Given the description of an element on the screen output the (x, y) to click on. 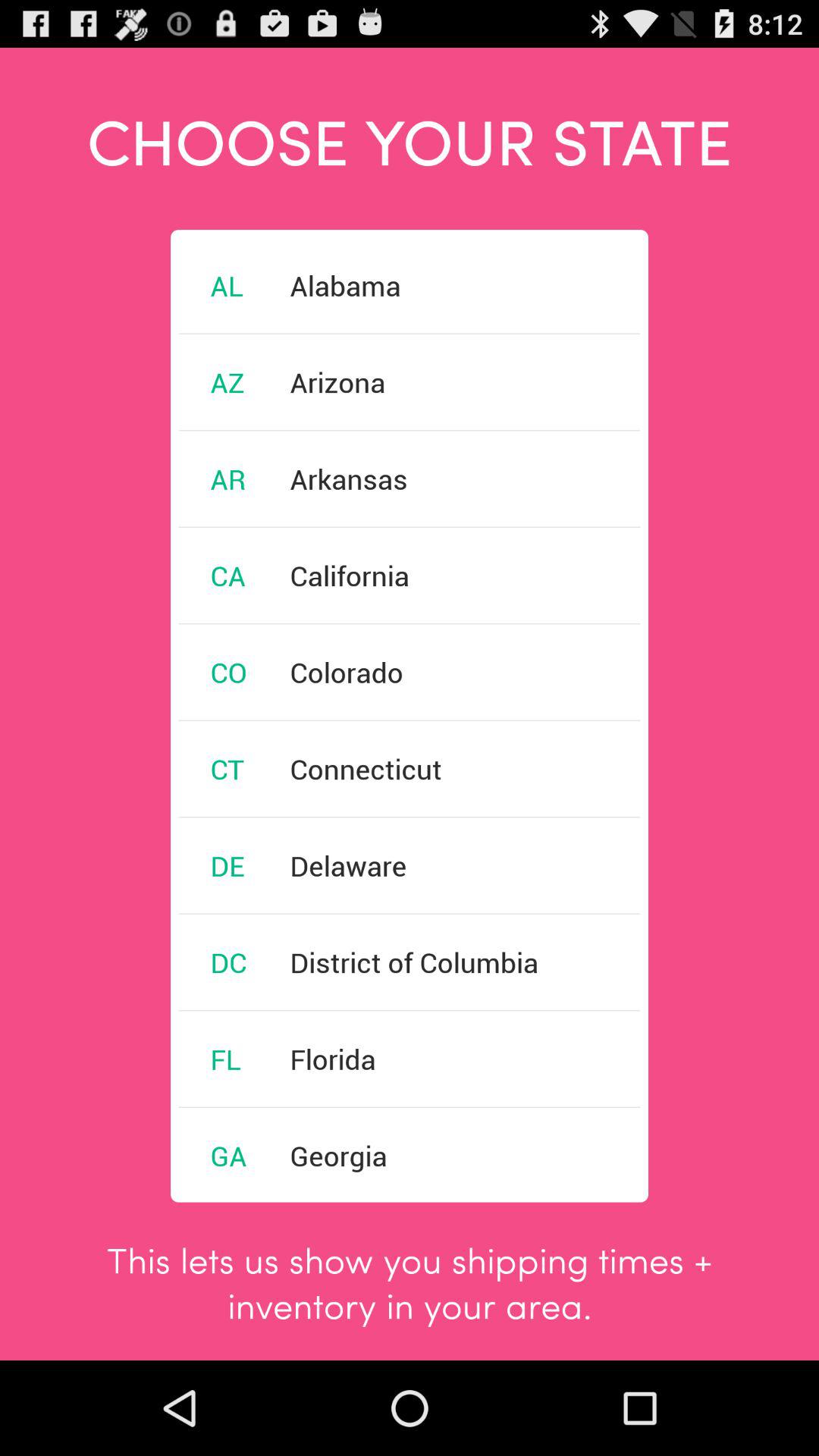
click icon next to the arkansas item (227, 478)
